Given the description of an element on the screen output the (x, y) to click on. 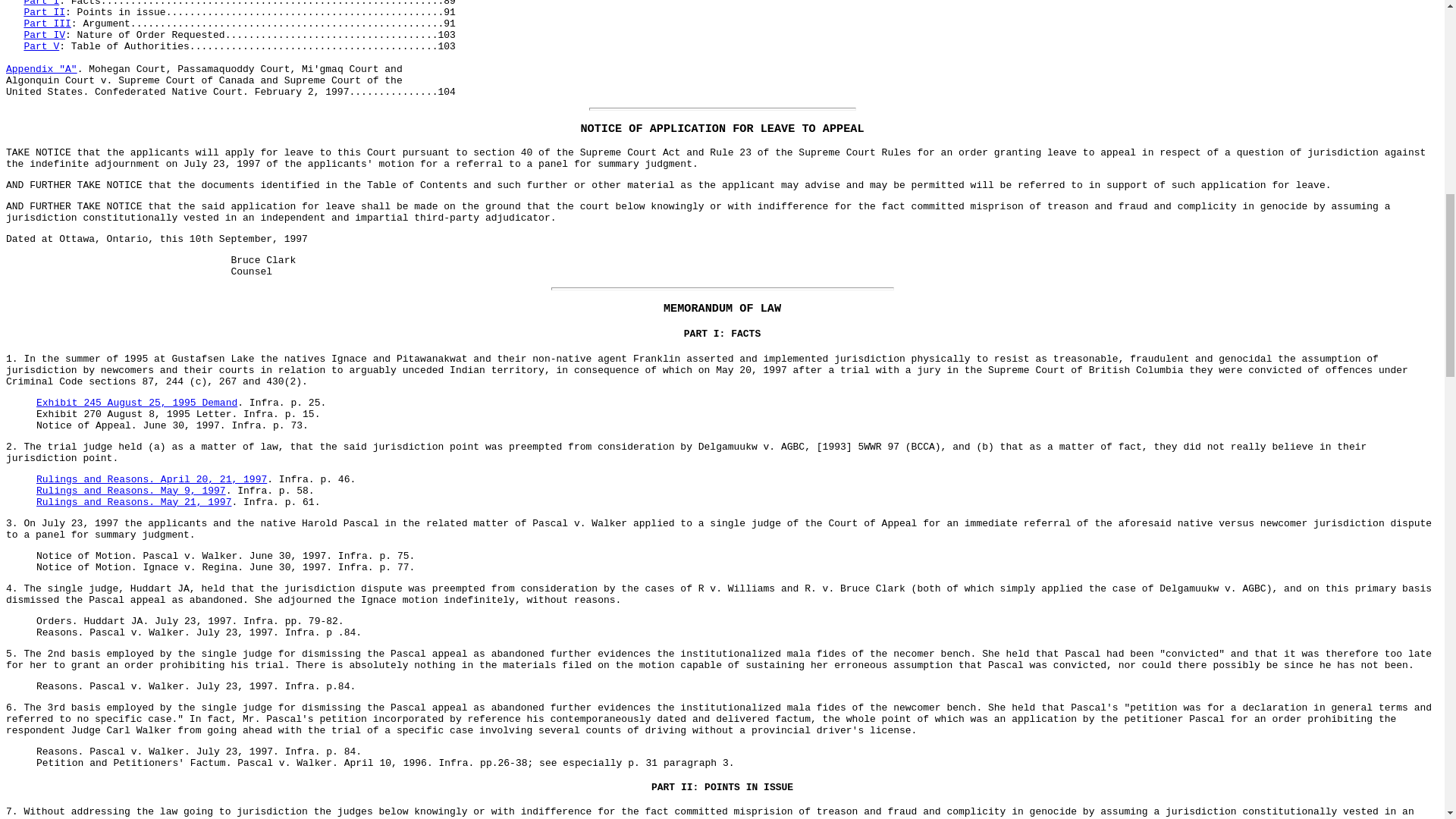
Part III (46, 23)
Rulings and Reasons. April 20, 21, 1997 (151, 479)
Part II (44, 12)
Appendix "A" (41, 69)
Rulings and Reasons. May 9, 1997 (130, 490)
Part I (41, 3)
Part V (41, 46)
Rulings and Reasons. May 21, 1997 (133, 501)
Exhibit 245 August 25, 1995 Demand (136, 402)
Part IV (44, 34)
